Given the description of an element on the screen output the (x, y) to click on. 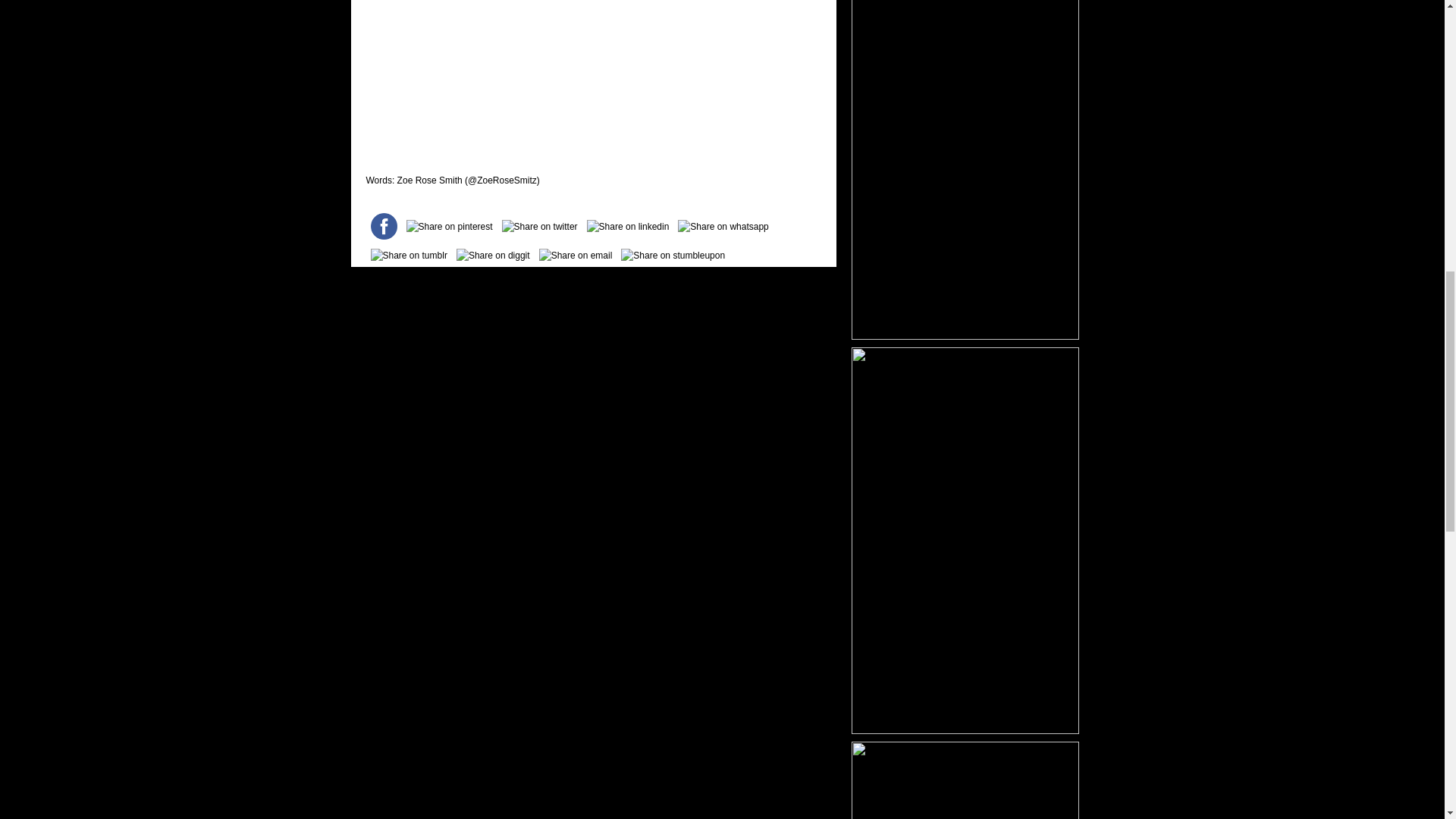
linkedin (628, 226)
facebook (383, 226)
whatsapp (722, 226)
diggit (492, 255)
pinterest (449, 226)
twitter (539, 226)
tumblr (408, 255)
